Given the description of an element on the screen output the (x, y) to click on. 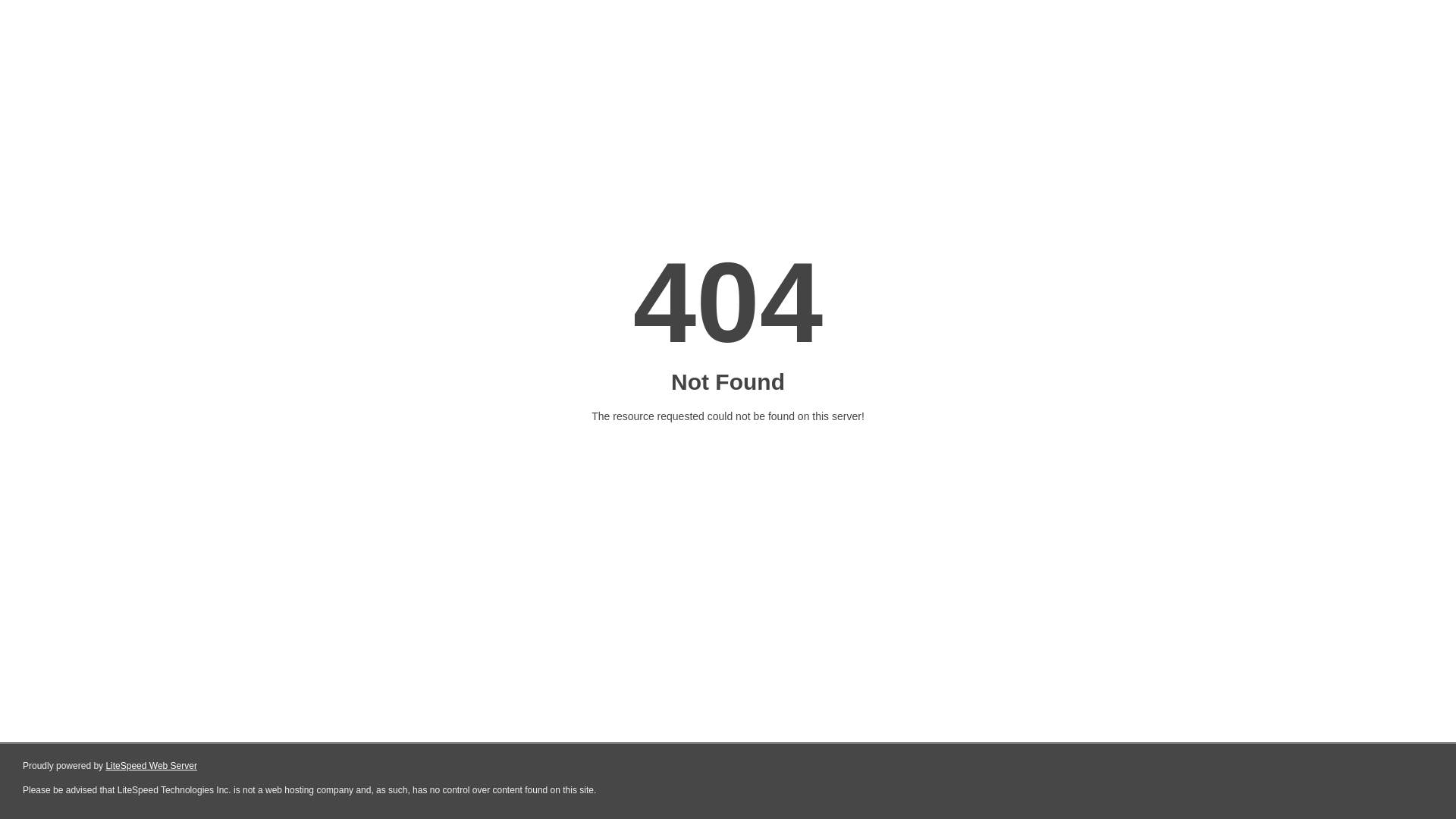
LiteSpeed Web Server Element type: text (151, 765)
